Given the description of an element on the screen output the (x, y) to click on. 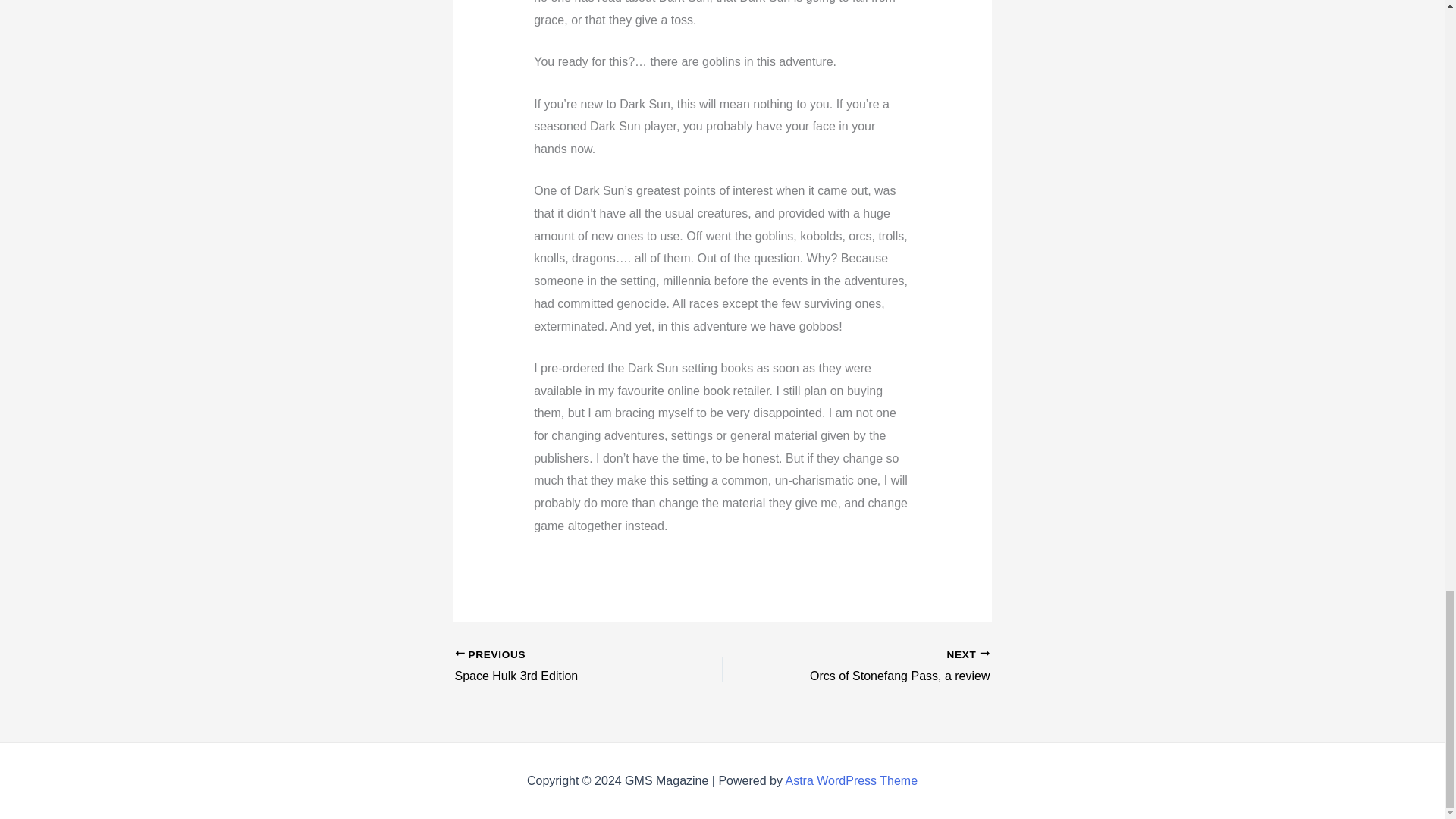
Space Hulk 3rd Edition (561, 667)
Astra WordPress Theme (561, 667)
Orcs of Stonefang Pass, a review (882, 667)
